Given the description of an element on the screen output the (x, y) to click on. 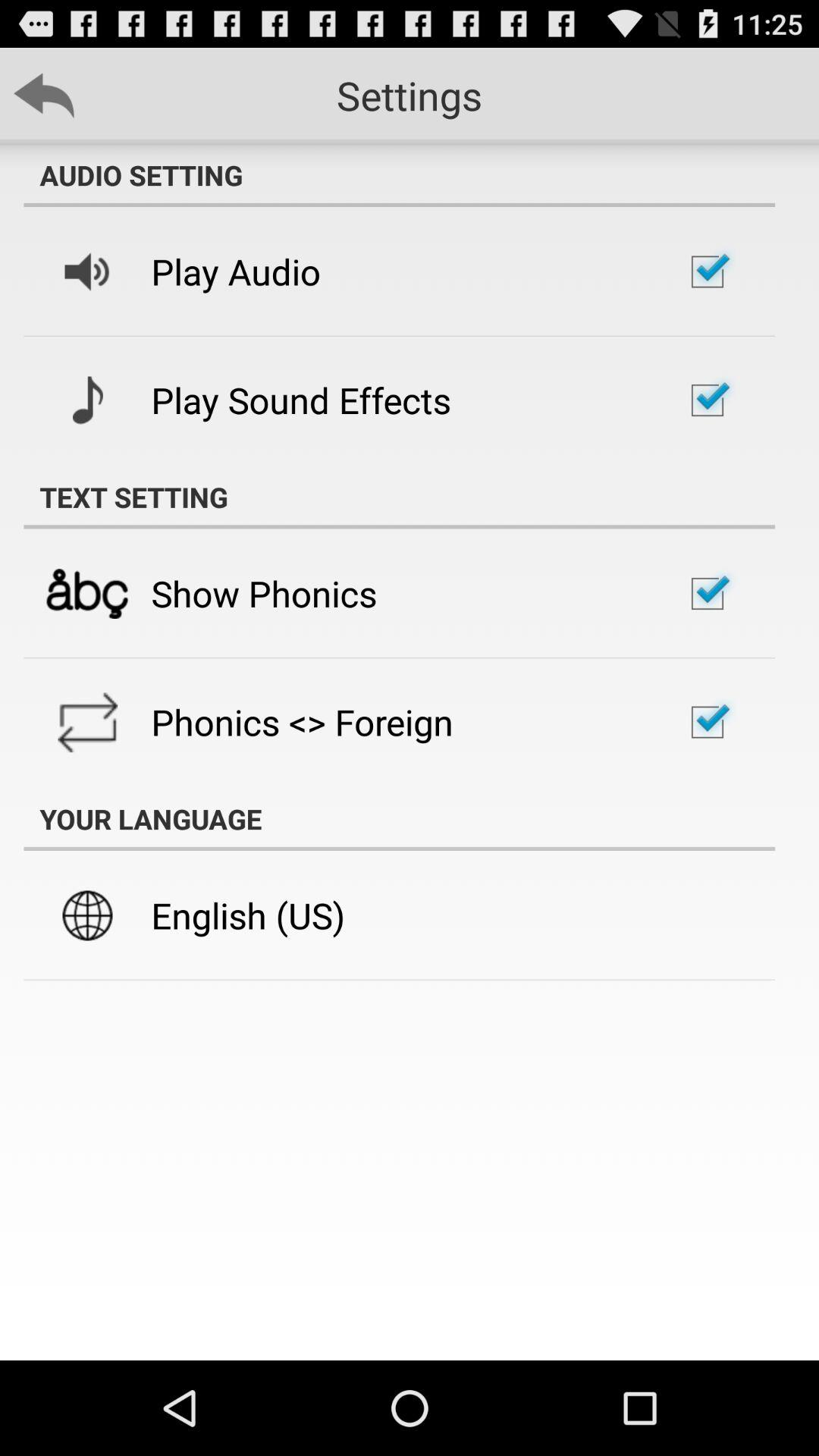
press the phonics <> foreign item (302, 721)
